Given the description of an element on the screen output the (x, y) to click on. 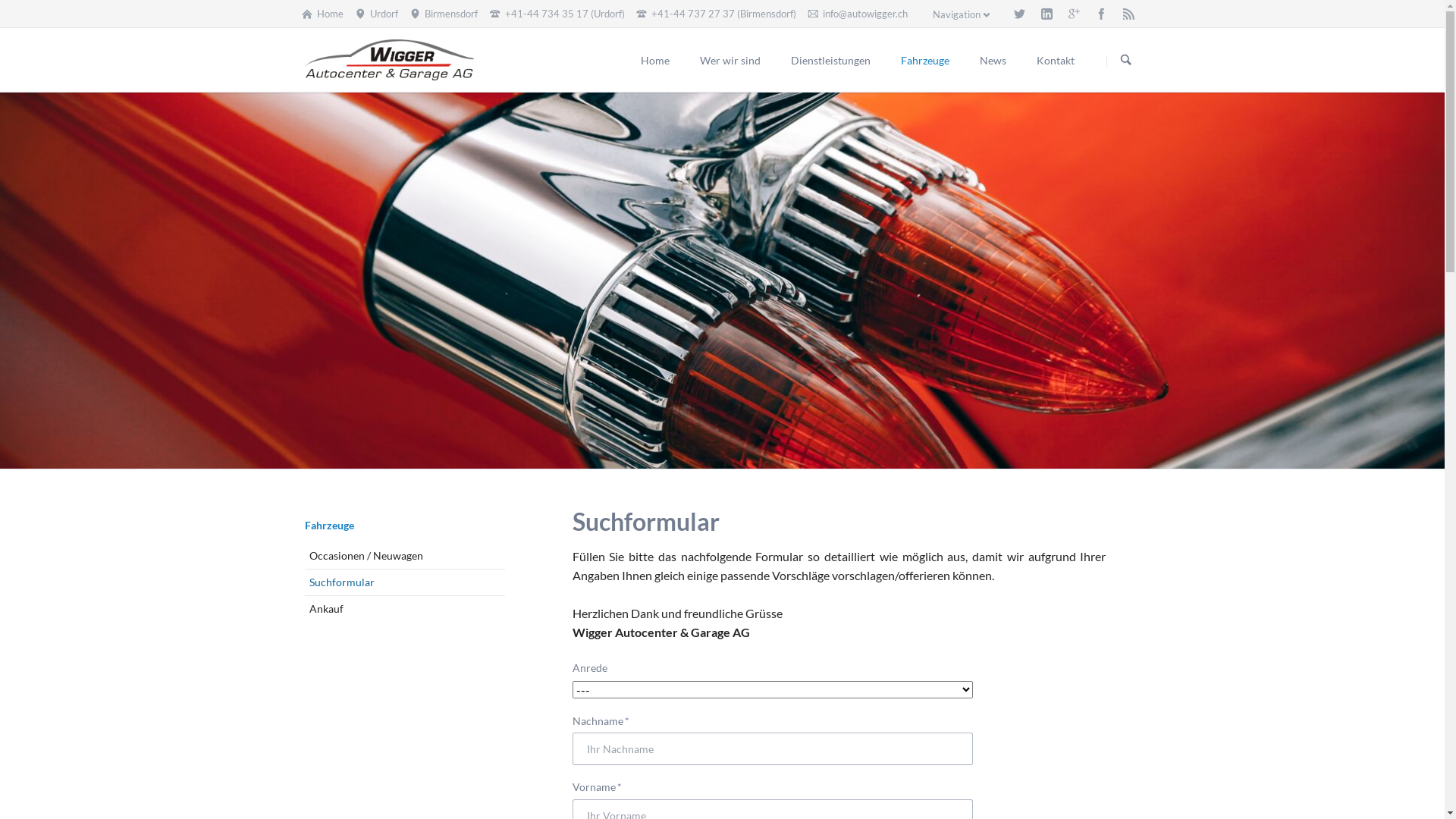
Dienstleistungen Element type: text (829, 59)
Wer wir sind Element type: text (729, 59)
Kontakt Element type: text (1054, 59)
News Element type: text (992, 59)
Fahrzeuge Element type: text (924, 59)
info@autowigger.ch Element type: text (857, 13)
Ankauf Element type: text (404, 608)
+41-44 734 35 17 (Urdorf) Element type: text (556, 13)
Birmensdorf Element type: text (443, 13)
Home Element type: text (321, 13)
+41-44 737 27 37 (Birmensdorf) Element type: text (716, 13)
Occasionen / Neuwagen Element type: text (404, 555)
Fahrzeuge Element type: text (329, 524)
Urdorf Element type: text (376, 13)
Home Element type: text (654, 59)
SUCHEN Element type: text (1125, 60)
